Given the description of an element on the screen output the (x, y) to click on. 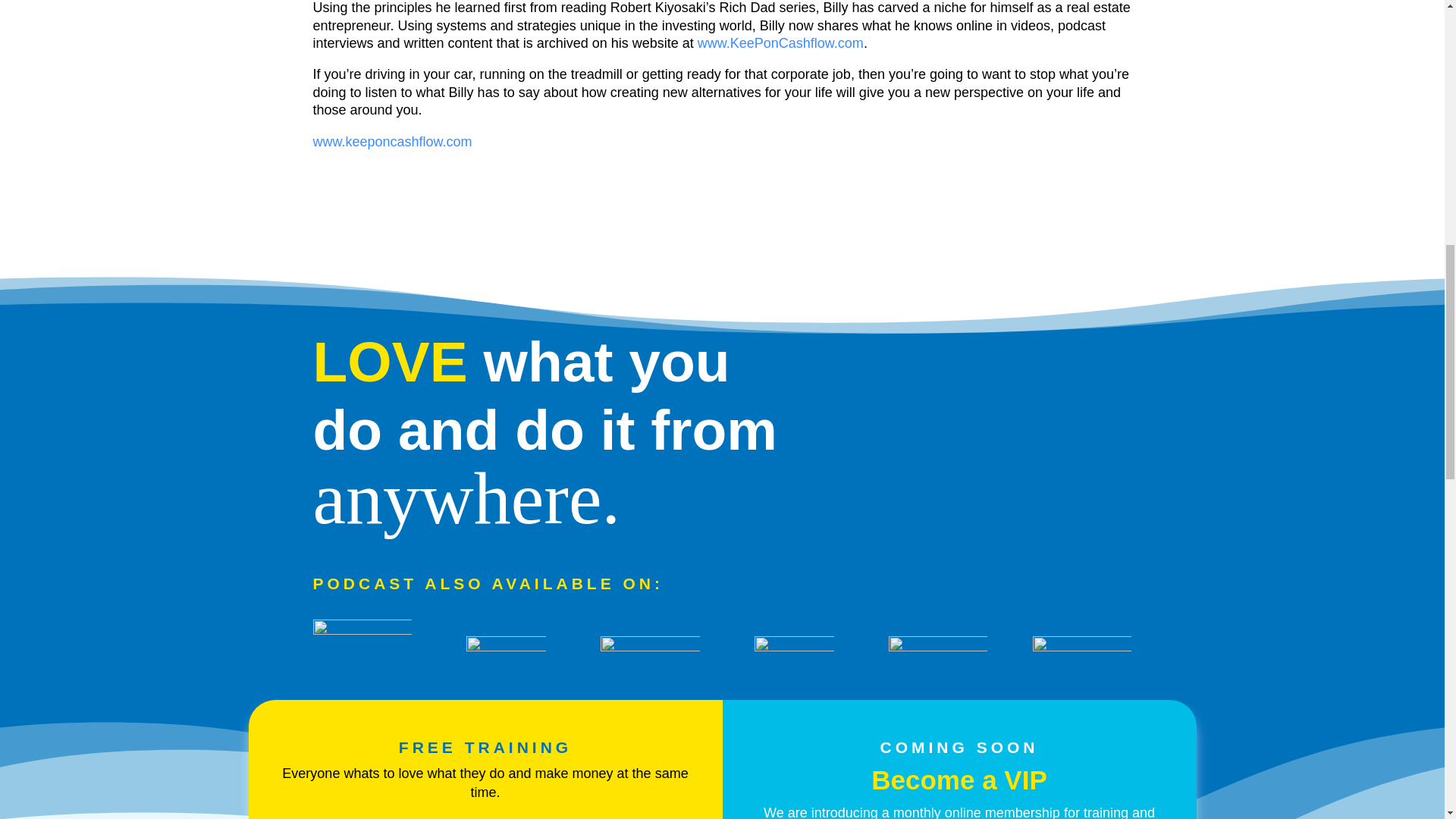
YT (937, 648)
www.KeePonCashflow.com (780, 43)
listen-on-spotify-3 (793, 651)
apple (648, 652)
fs-google-podcasts-white-1 (1081, 648)
www.keeponcashflow.com (392, 141)
iheartradio-logo-white (361, 649)
